Given the description of an element on the screen output the (x, y) to click on. 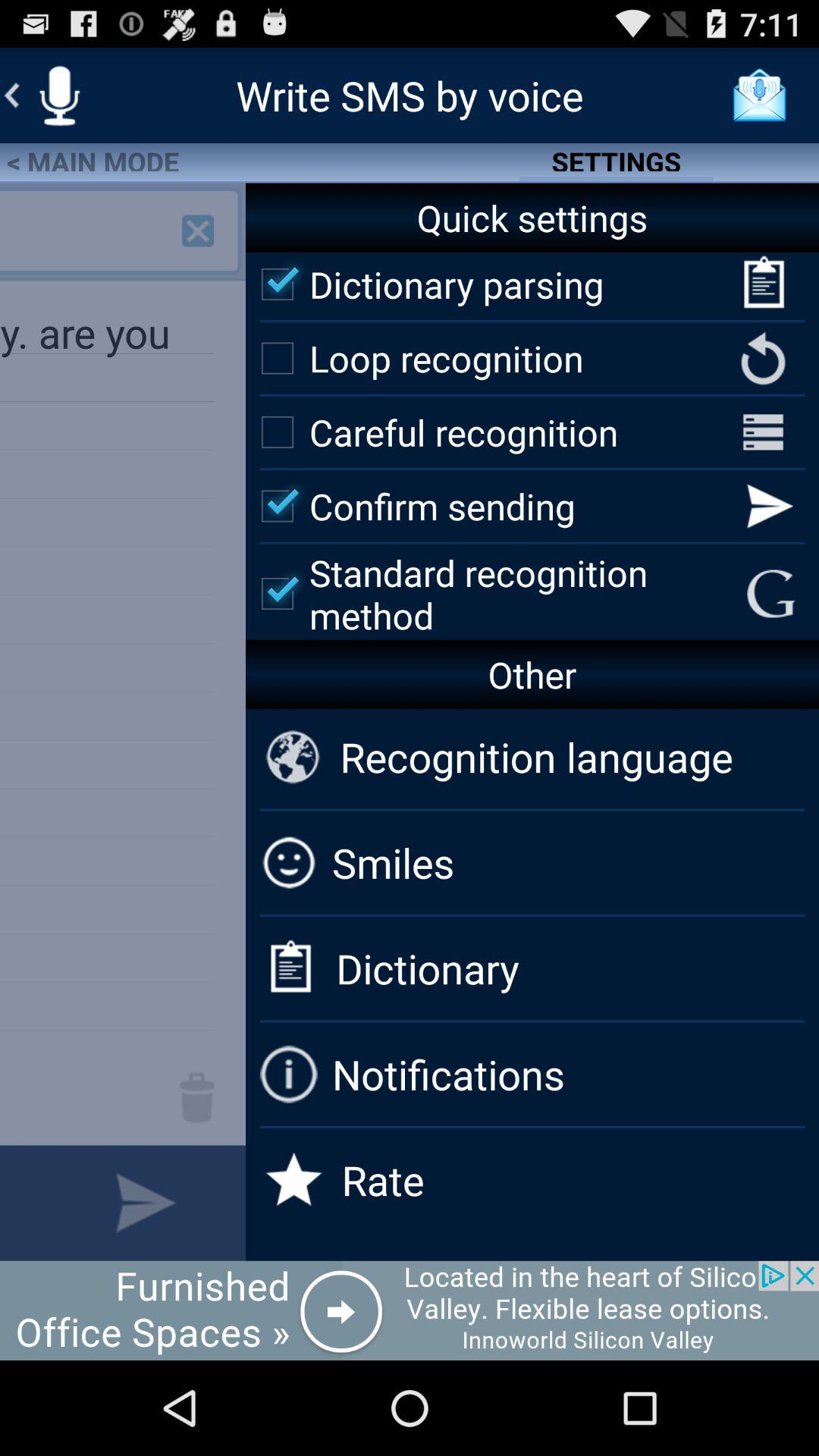
text field (23, 1202)
